Given the description of an element on the screen output the (x, y) to click on. 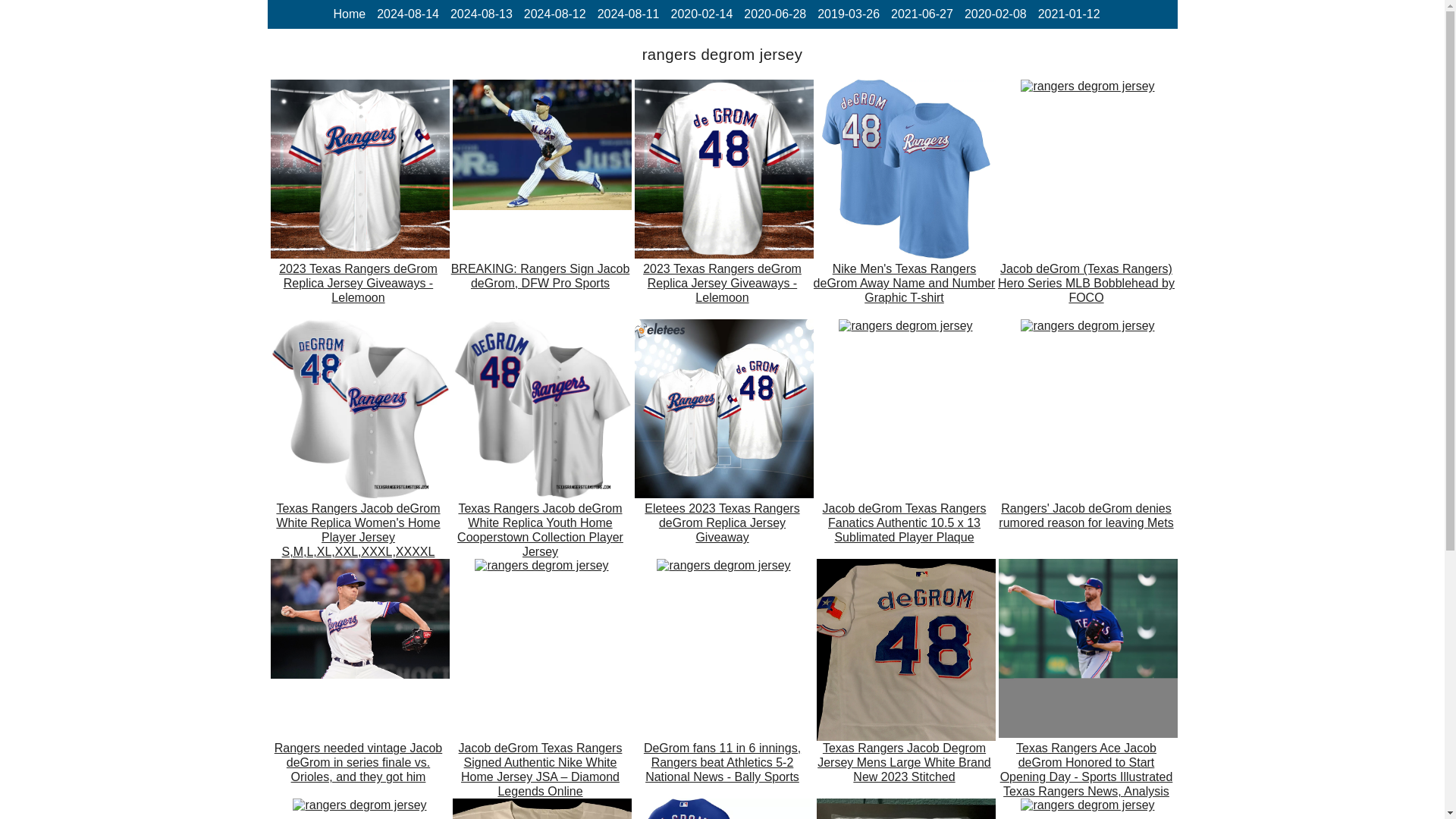
2024-08-12 (555, 13)
BREAKING: Rangers Sign Jacob deGrom, DFW Pro Sports (539, 290)
2024-08-13 (480, 13)
rangers degrom jersey (540, 144)
Home (349, 13)
